Given the description of an element on the screen output the (x, y) to click on. 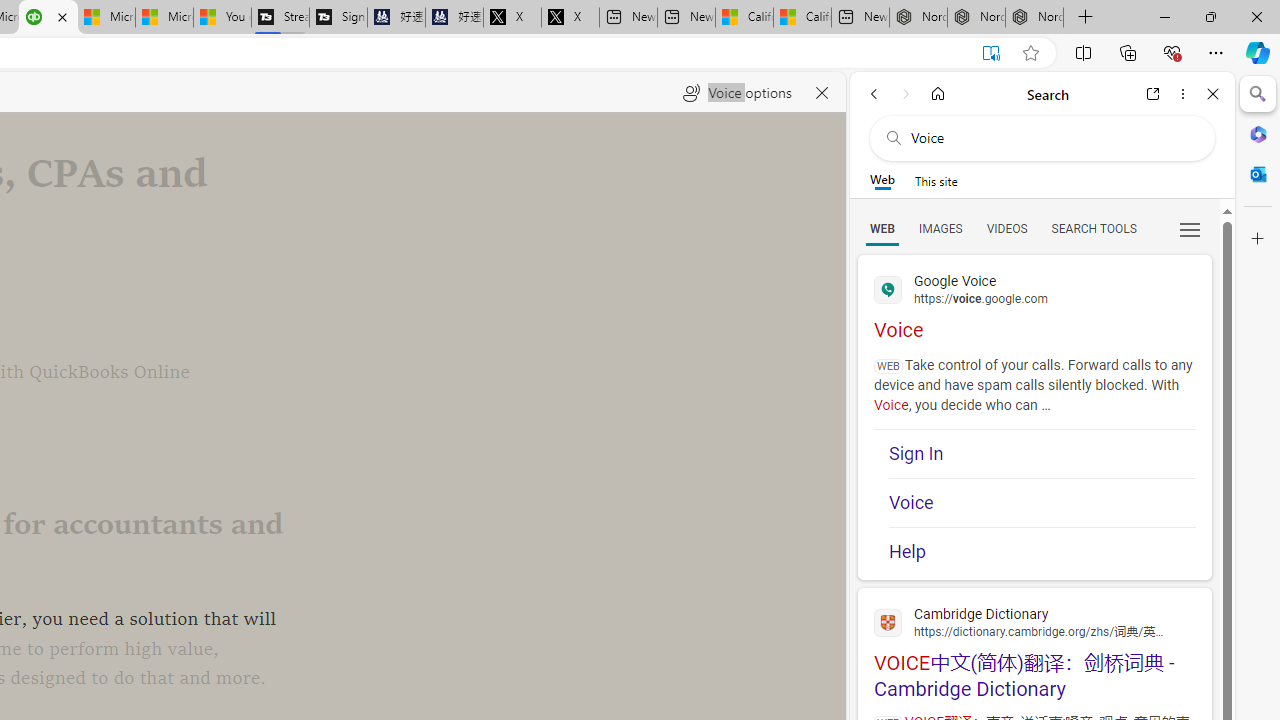
WEB   (882, 228)
Microsoft Start (164, 17)
Google Voice (1034, 288)
More options (1182, 93)
Cambridge Dictionary (1034, 621)
This site scope (936, 180)
Streaming Coverage | T3 (280, 17)
Search Filter, WEB (882, 228)
IMAGES (939, 228)
Voice (1042, 502)
